Given the description of an element on the screen output the (x, y) to click on. 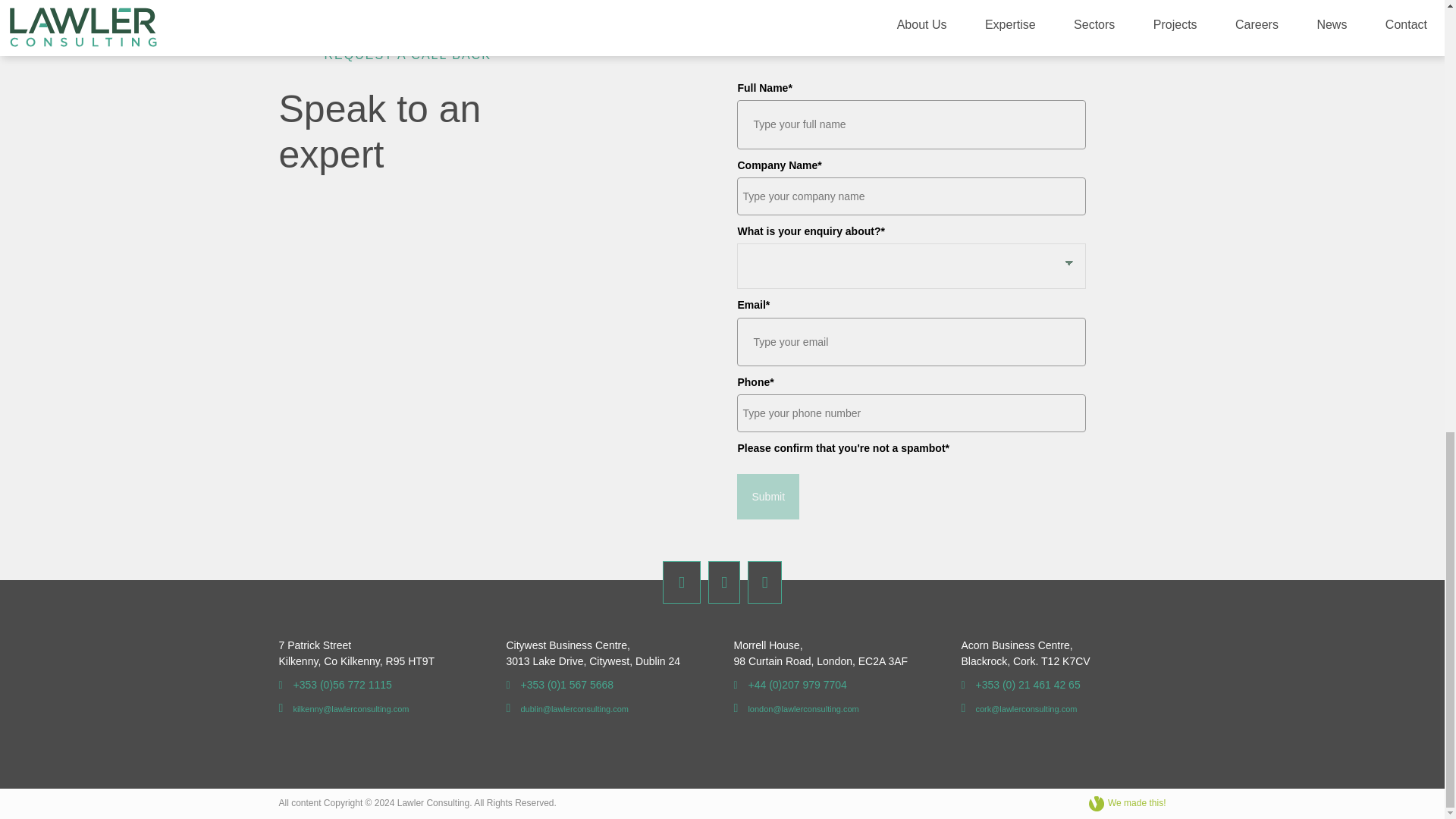
Link to call Kilkenny Office (335, 684)
Link to Lawler Consulting Facebook Page (681, 582)
Link to email Lawler Consulting (344, 708)
Link to email Lawler Consulting (567, 708)
Link to email Lawler Consulting (796, 708)
Link to call London Office (790, 684)
Link to call Dublin Office (560, 684)
Submit (767, 496)
